Given the description of an element on the screen output the (x, y) to click on. 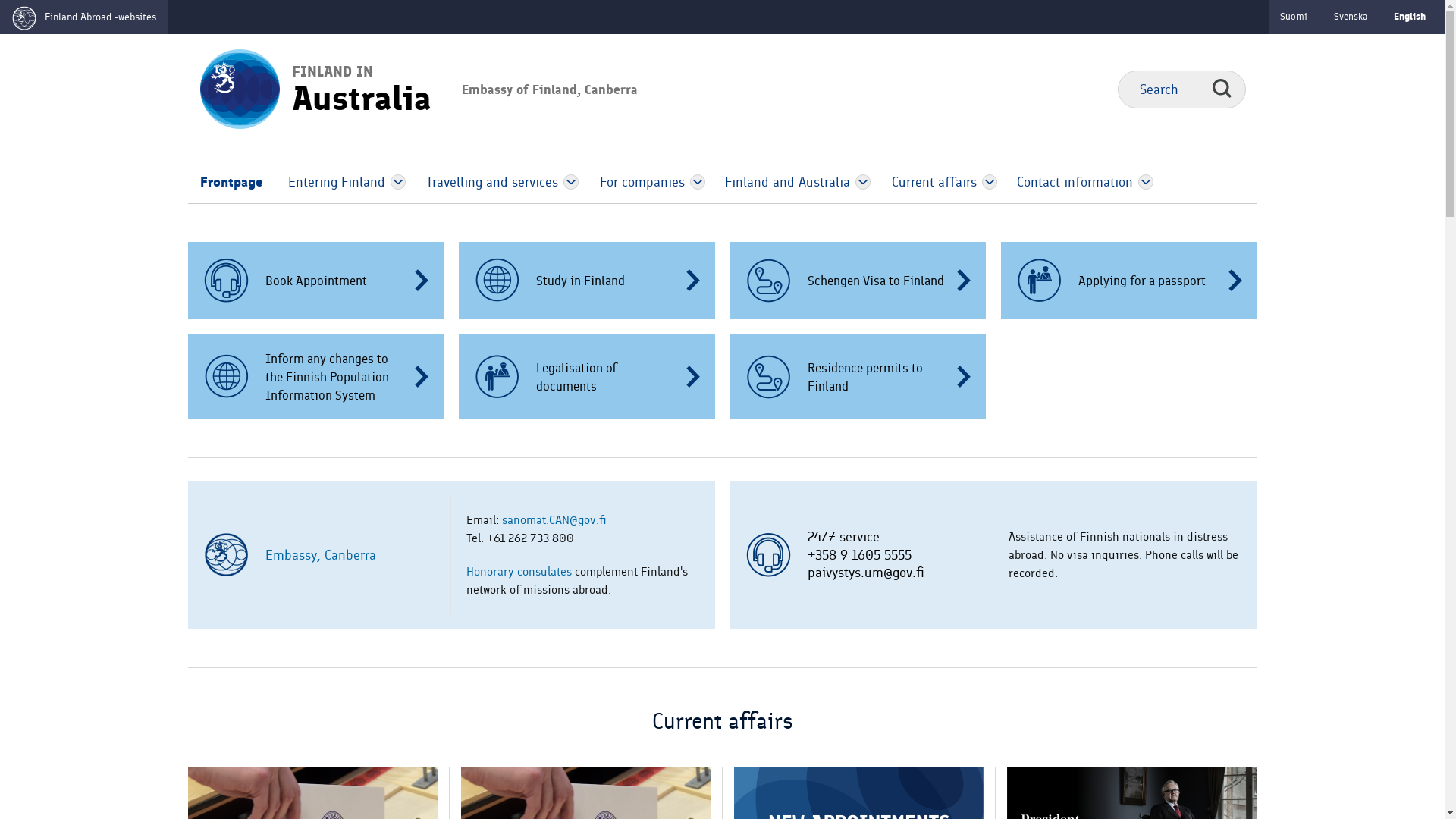
Finland and Australia Element type: text (781, 181)
Svenska Element type: text (1350, 16)
Contact information Element type: text (1068, 181)
Residence permits to Finland Element type: text (857, 376)
Entering Finland Element type: text (331, 181)
sanomat.CAN@gov.fi Element type: text (554, 519)
Legalisation of documents Element type: text (586, 376)
Study in Finland Element type: text (586, 280)
Current affairs Element type: text (927, 181)
Honorary consulates Element type: text (518, 571)
English Element type: text (1409, 16)
Embassy, Canberra Element type: text (320, 554)
Book Appointment Element type: text (315, 280)
Suomi Element type: text (1293, 16)
Search Element type: text (1220, 88)
Schengen Visa to Finland Element type: text (857, 280)
Applying for a passport Element type: text (1128, 280)
For companies Element type: text (636, 181)
Frontpage - Finland abroad: Australia Element type: hover (233, 87)
Finland Abroad -websites Element type: text (83, 17)
Travelling and services Element type: text (486, 181)
